Given the description of an element on the screen output the (x, y) to click on. 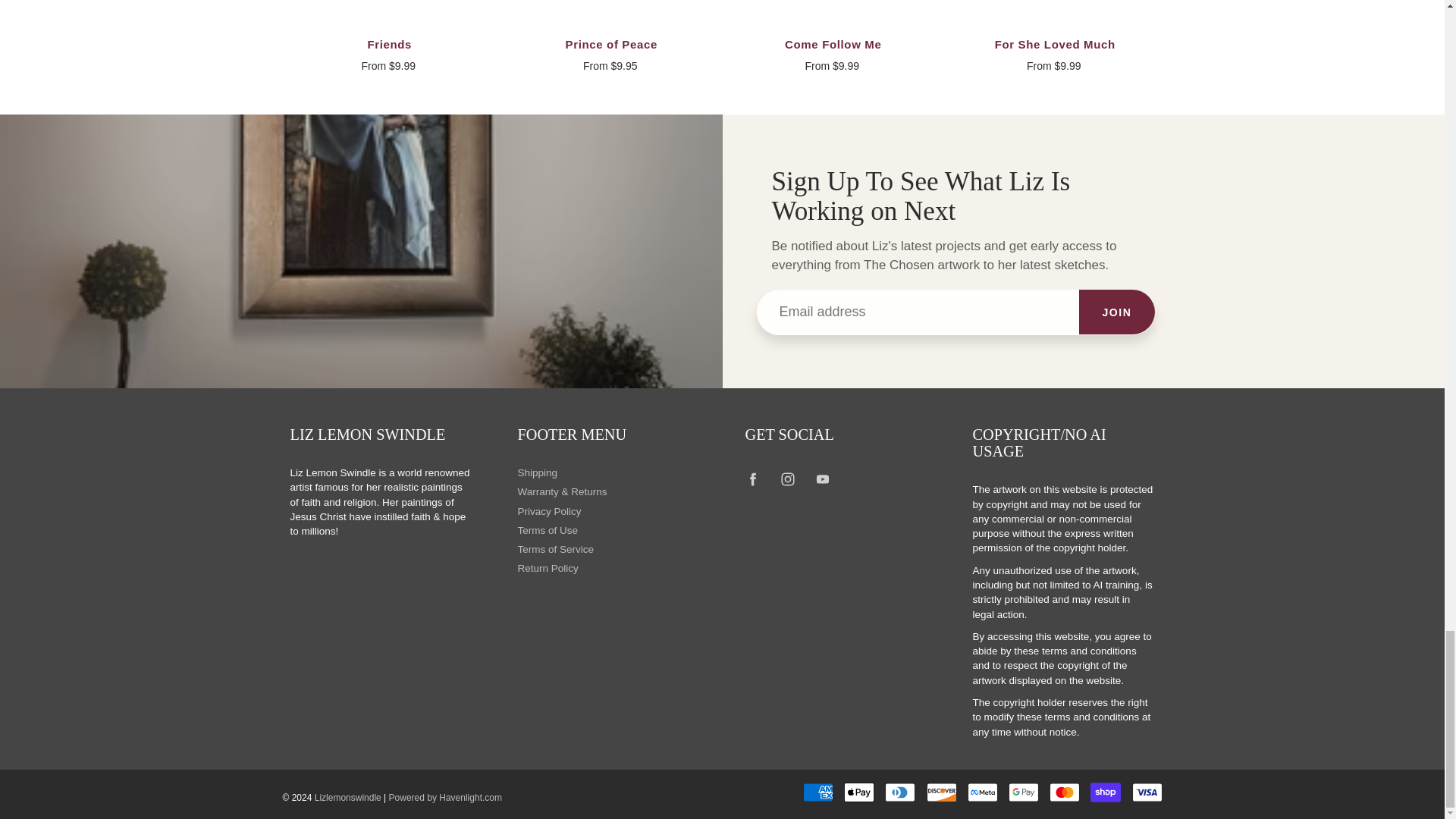
Google Pay (1024, 792)
Diners Club (900, 792)
American Express (817, 792)
Shop Pay (1105, 792)
Meta Pay (982, 792)
Apple Pay (859, 792)
Visa (1146, 792)
Mastercard (1064, 792)
Discover (941, 792)
